Given the description of an element on the screen output the (x, y) to click on. 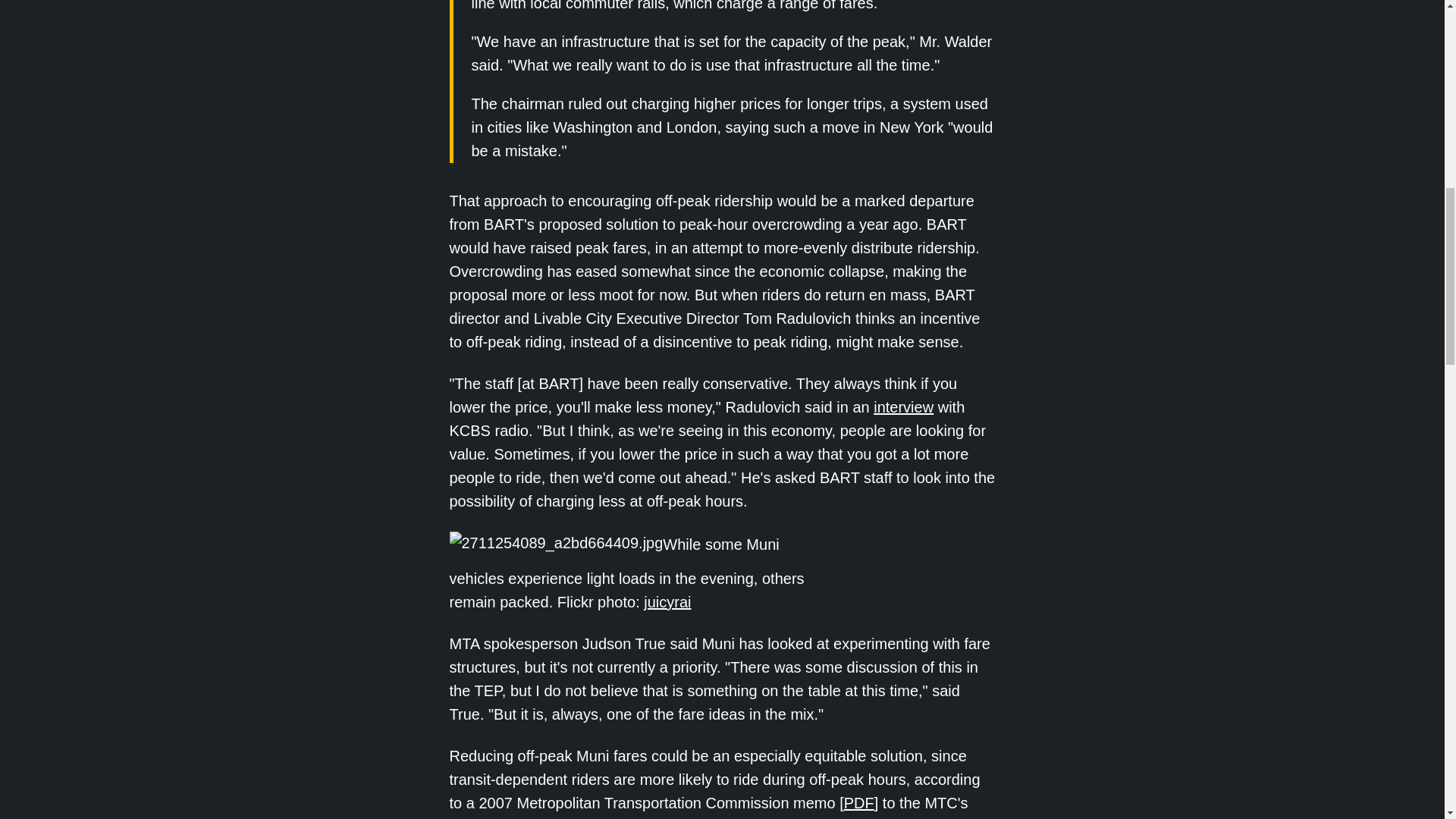
interview (903, 406)
juicyrai (666, 601)
PDF (859, 802)
